Given the description of an element on the screen output the (x, y) to click on. 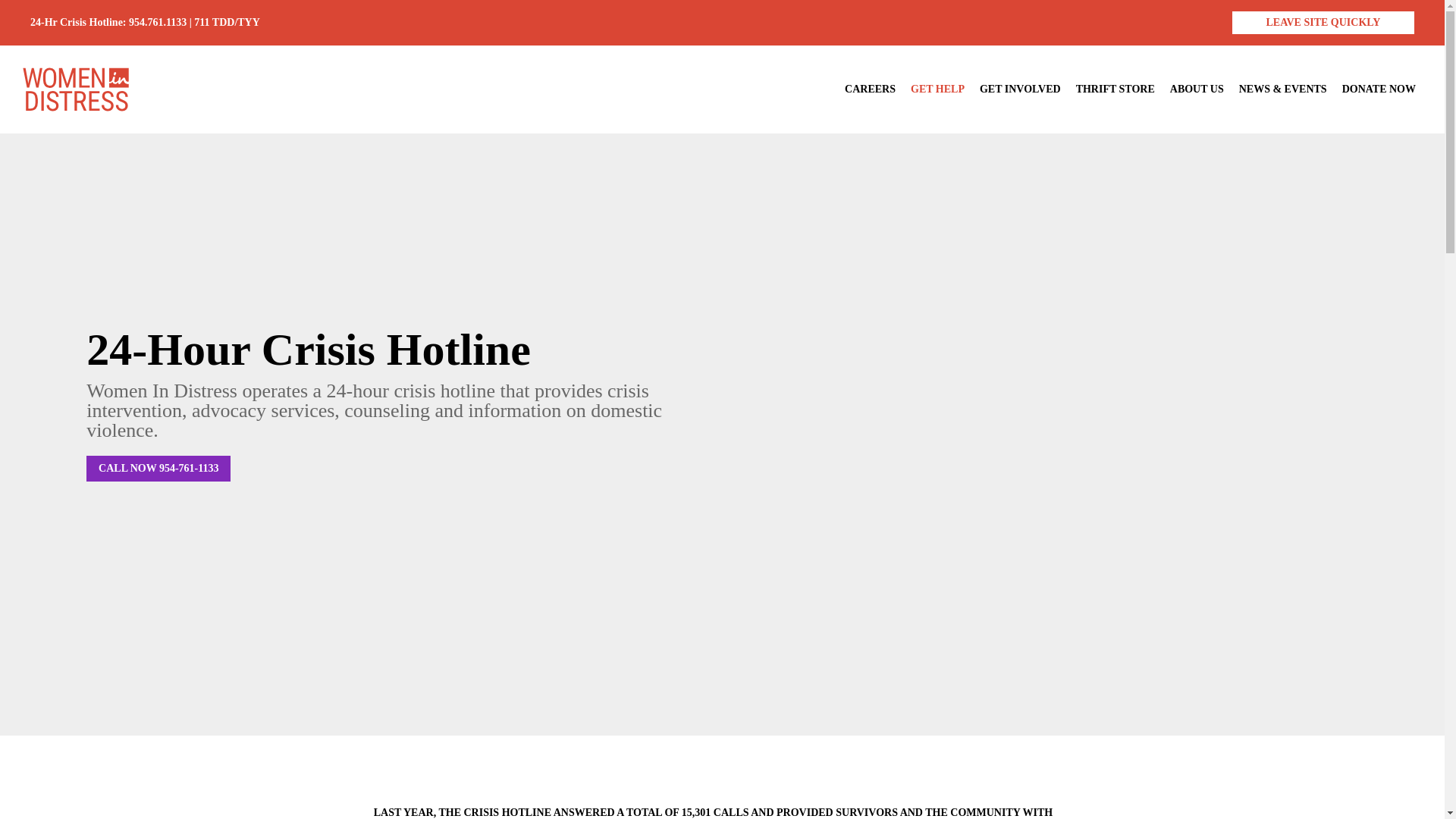
ABOUT US (1196, 89)
GET HELP (937, 89)
CAREERS (869, 89)
THRIFT STORE (1114, 89)
GET INVOLVED (1020, 89)
954.761.1133 (157, 21)
